Given the description of an element on the screen output the (x, y) to click on. 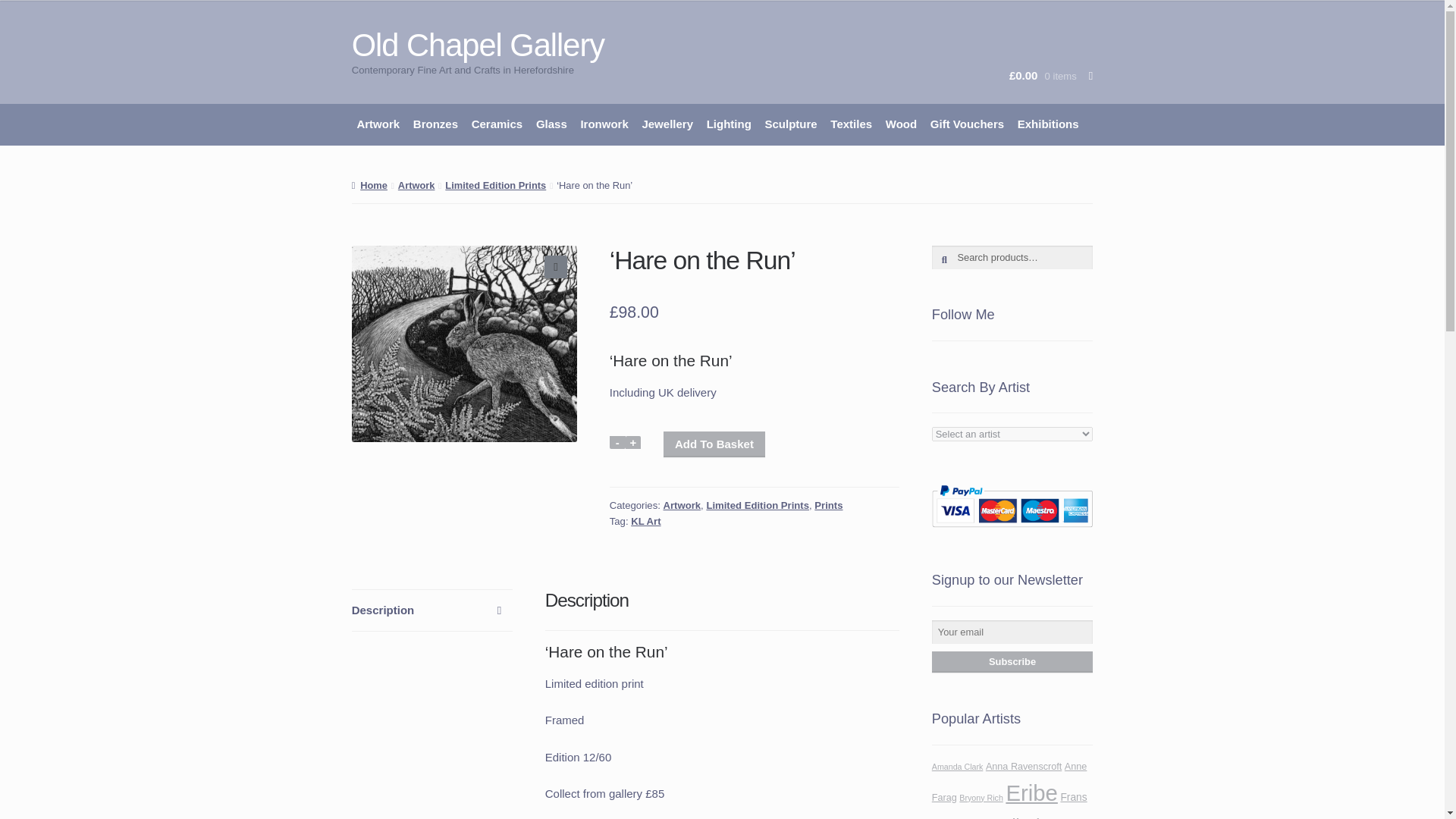
Bronzes (435, 124)
Lighting (729, 124)
Ironwork (604, 124)
Sculpture (791, 124)
Gift Vouchers (966, 124)
Textiles (851, 124)
Jewellery (667, 124)
Home (369, 184)
Artwork (378, 124)
Old Chapel Gallery (478, 45)
Ceramics (496, 124)
Limited Edition Prints (495, 184)
- (618, 441)
Exhibitions (1047, 124)
